Given the description of an element on the screen output the (x, y) to click on. 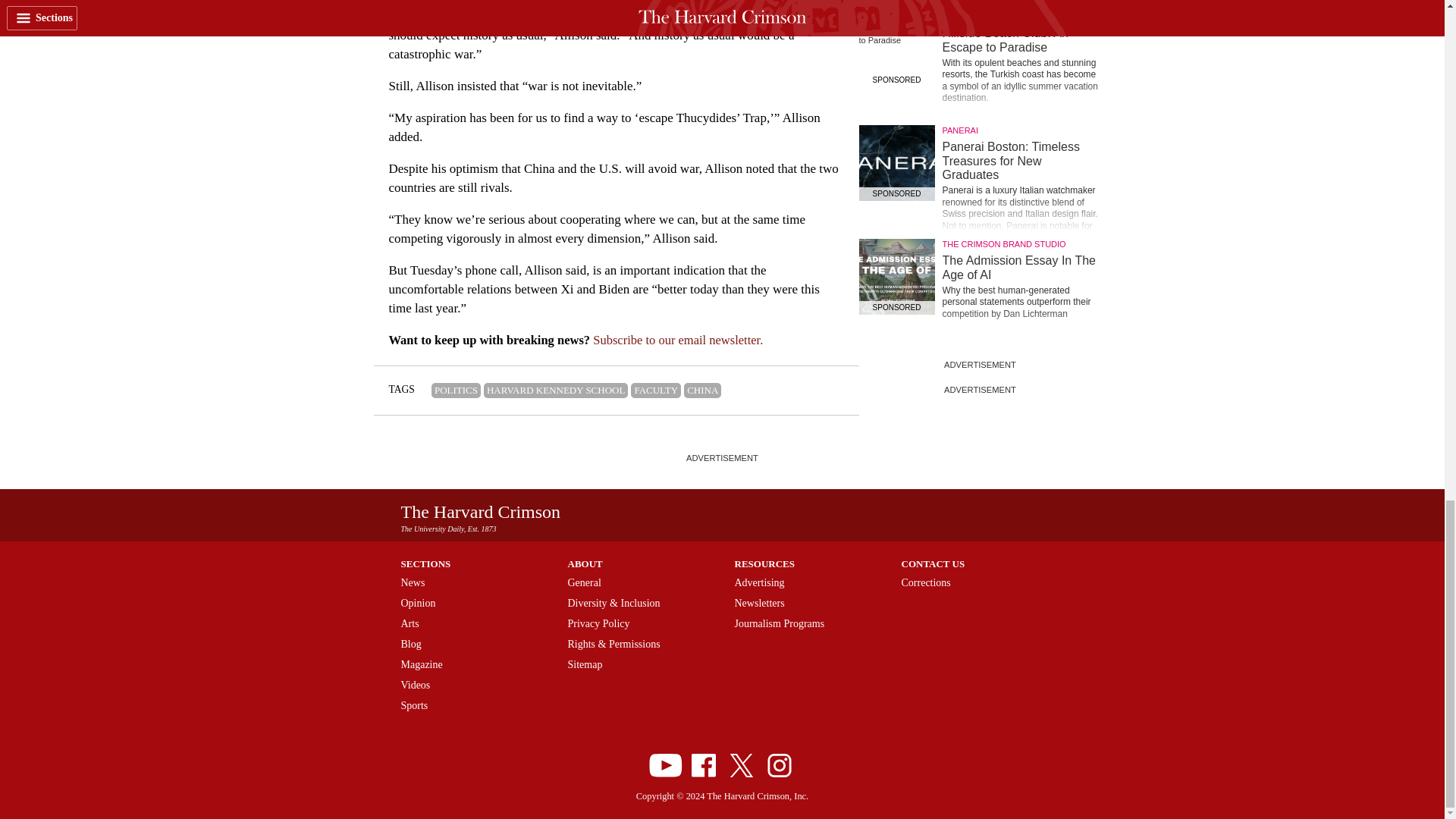
Subscribe to our email newsletter. (677, 339)
POLITICS (455, 390)
FACULTY (655, 390)
HARVARD KENNEDY SCHOOL (555, 390)
CHINA (702, 390)
